Given the description of an element on the screen output the (x, y) to click on. 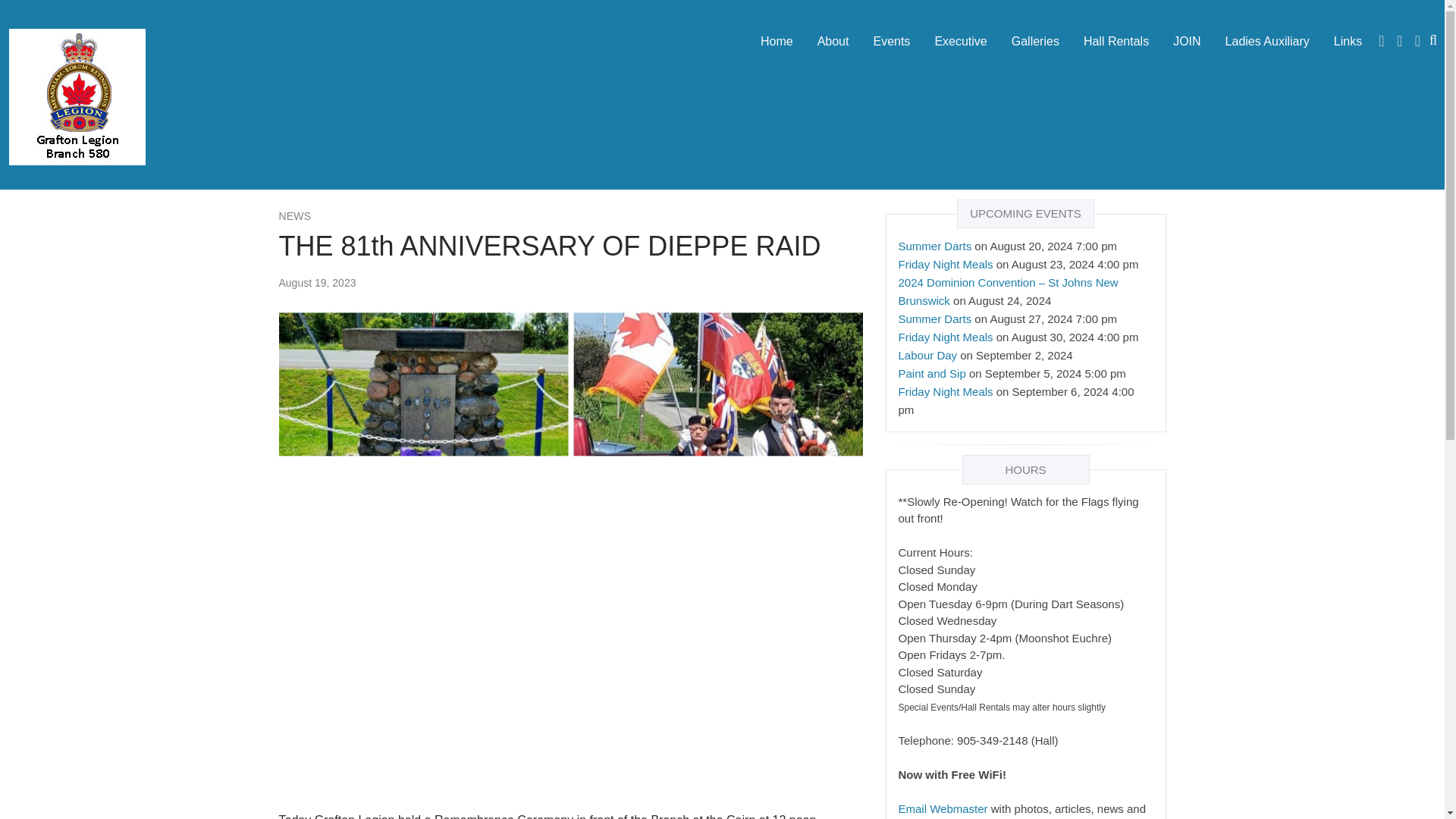
Ladies Auxiliary (1267, 41)
Links (1348, 41)
NEWS (295, 215)
Executive (959, 41)
About (833, 41)
JOIN (1186, 41)
Events (890, 41)
Home (776, 41)
Hall Rentals (1115, 41)
Galleries (1034, 41)
